Given the description of an element on the screen output the (x, y) to click on. 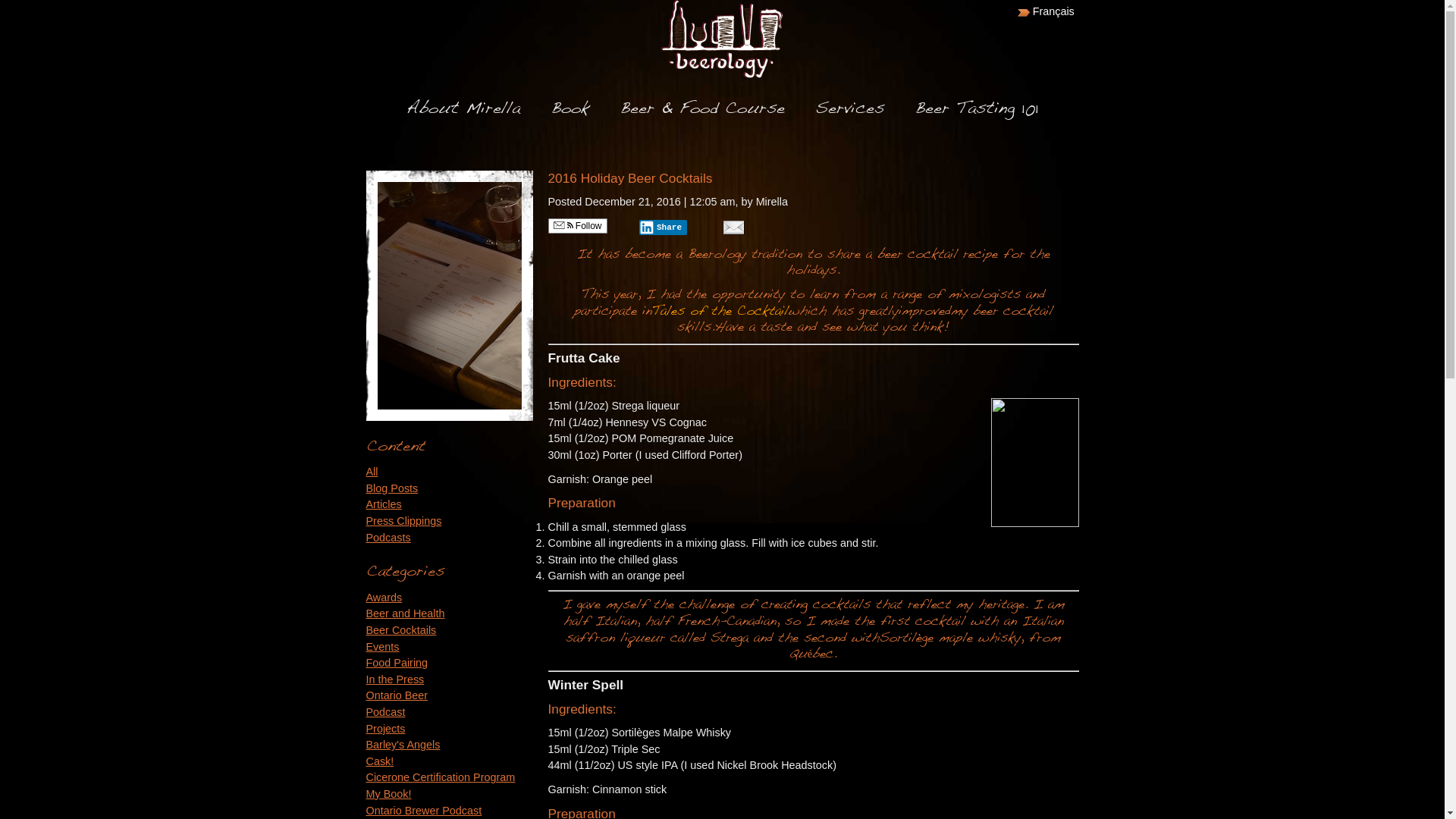
Tales of the Cocktail Element type: text (720, 310)
2016 Holiday Beer Cocktails Element type: text (629, 177)
All Element type: text (371, 471)
Articles Element type: text (383, 504)
Podcasts Element type: text (387, 537)
Events Element type: text (381, 646)
Ontario Brewer Podcast Element type: text (423, 810)
Ontario Beer Element type: text (396, 695)
Awards Element type: text (383, 597)
My Book! Element type: text (388, 793)
Book Element type: text (569, 108)
Cicerone Certification Program Element type: text (439, 777)
Email, RSS Element type: hover (563, 226)
Projects Element type: text (384, 728)
Beer Cocktails Element type: text (400, 630)
Blog Posts Element type: text (391, 488)
Cask! Element type: text (379, 761)
Barley's Angels Element type: text (402, 744)
Podcast Element type: text (384, 712)
About Mirella Element type: text (463, 108)
Beer and Health Element type: text (404, 613)
Beer & Food Course Element type: text (701, 108)
Services Element type: text (849, 108)
In the Press Element type: text (394, 679)
Share Element type: text (662, 227)
Press Clippings Element type: text (403, 520)
Email Element type: hover (732, 227)
Beer Tasting 101 Element type: text (976, 108)
Follow Element type: text (576, 225)
Food Pairing Element type: text (396, 662)
